Given the description of an element on the screen output the (x, y) to click on. 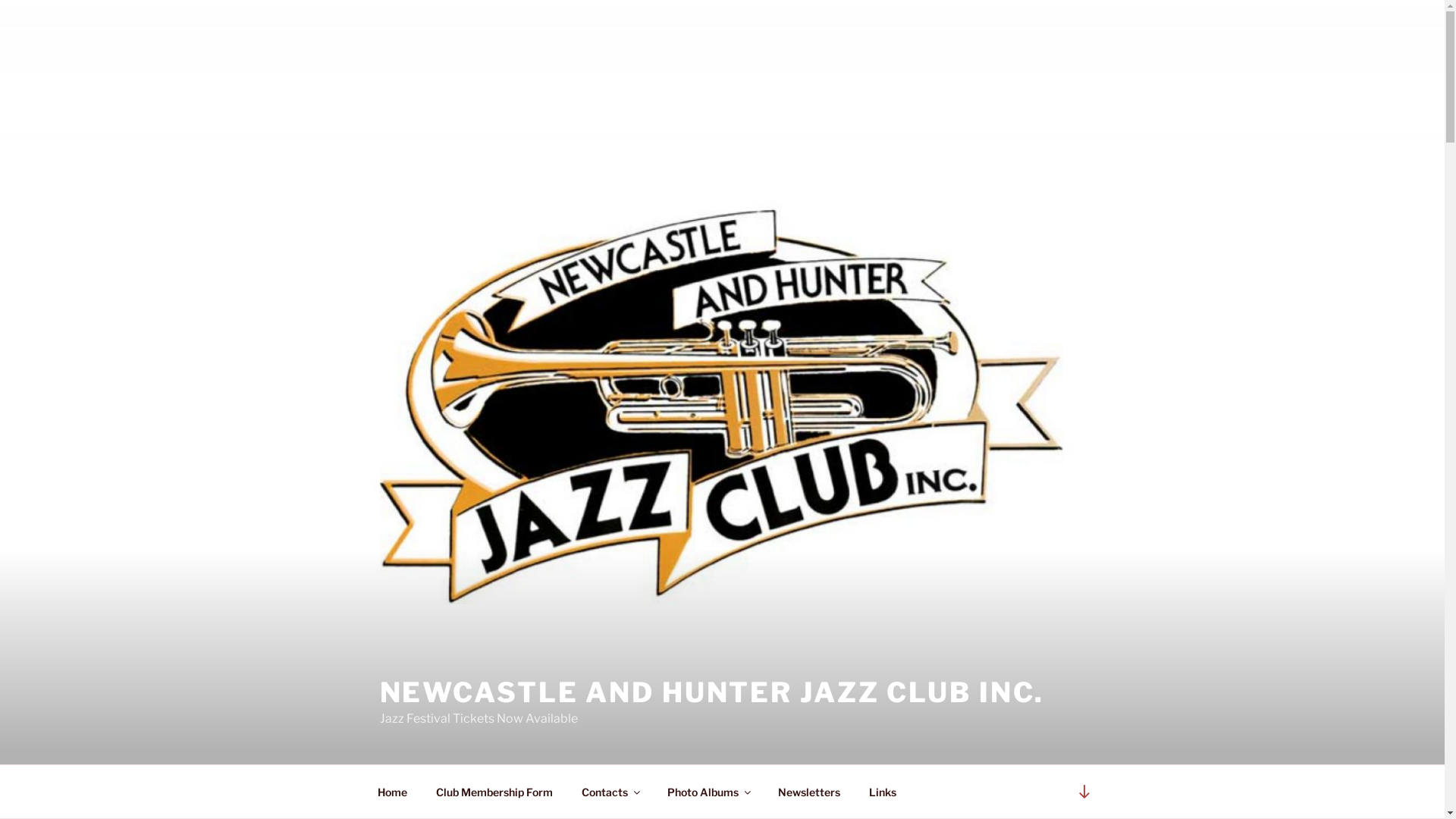
Club Membership Form Element type: text (494, 791)
Newsletters Element type: text (808, 791)
Skip to content Element type: text (0, 0)
Contacts Element type: text (610, 791)
NEWCASTLE AND HUNTER JAZZ CLUB INC. Element type: text (711, 692)
Links Element type: text (882, 791)
Home Element type: text (392, 791)
Photo Albums Element type: text (707, 791)
Scroll down to content Element type: text (1083, 790)
